Given the description of an element on the screen output the (x, y) to click on. 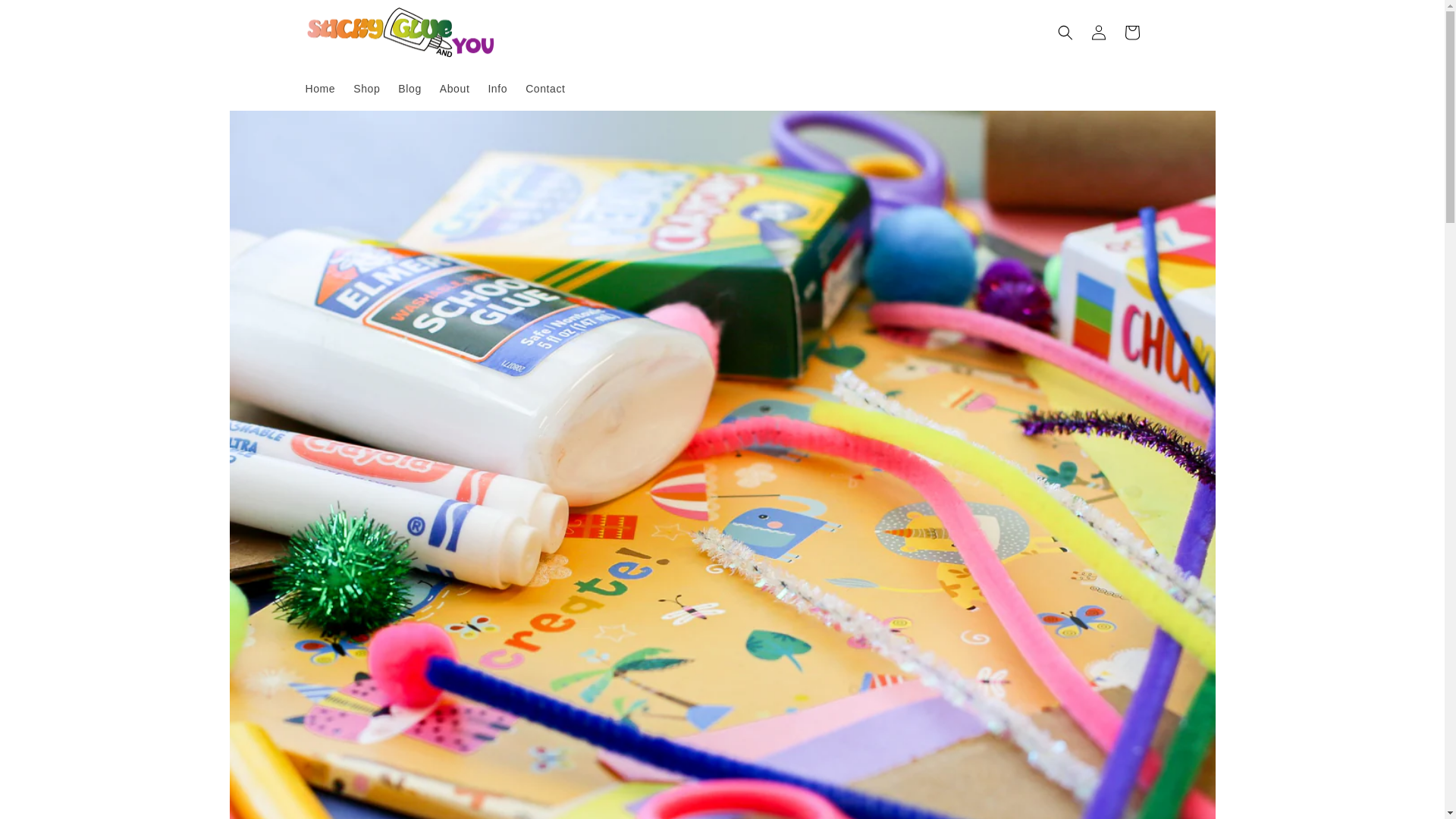
Skip to content (45, 17)
Cart (1131, 32)
Blog (408, 88)
About (454, 88)
Shop (365, 88)
Log in (1098, 32)
Contact (544, 88)
Info (497, 88)
Home (319, 88)
